Given the description of an element on the screen output the (x, y) to click on. 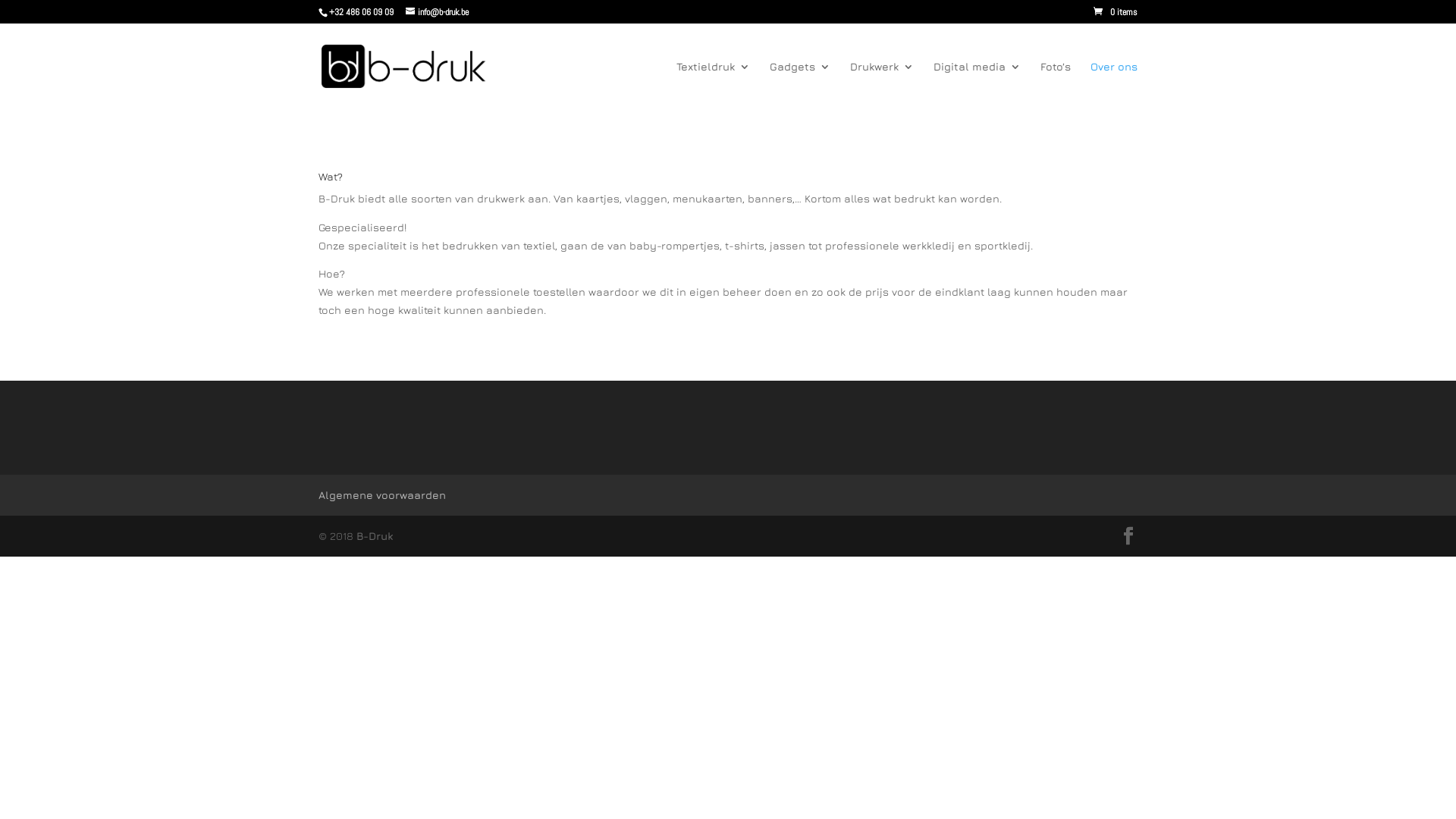
Over ons Element type: text (1113, 85)
Drukwerk Element type: text (881, 85)
Textieldruk Element type: text (712, 85)
Digital media Element type: text (976, 85)
Gadgets Element type: text (799, 85)
info@b-druk.be Element type: text (436, 12)
B-Druk Element type: text (374, 535)
Algemene voorwaarden Element type: text (381, 494)
0 items Element type: text (1115, 12)
